Given the description of an element on the screen output the (x, y) to click on. 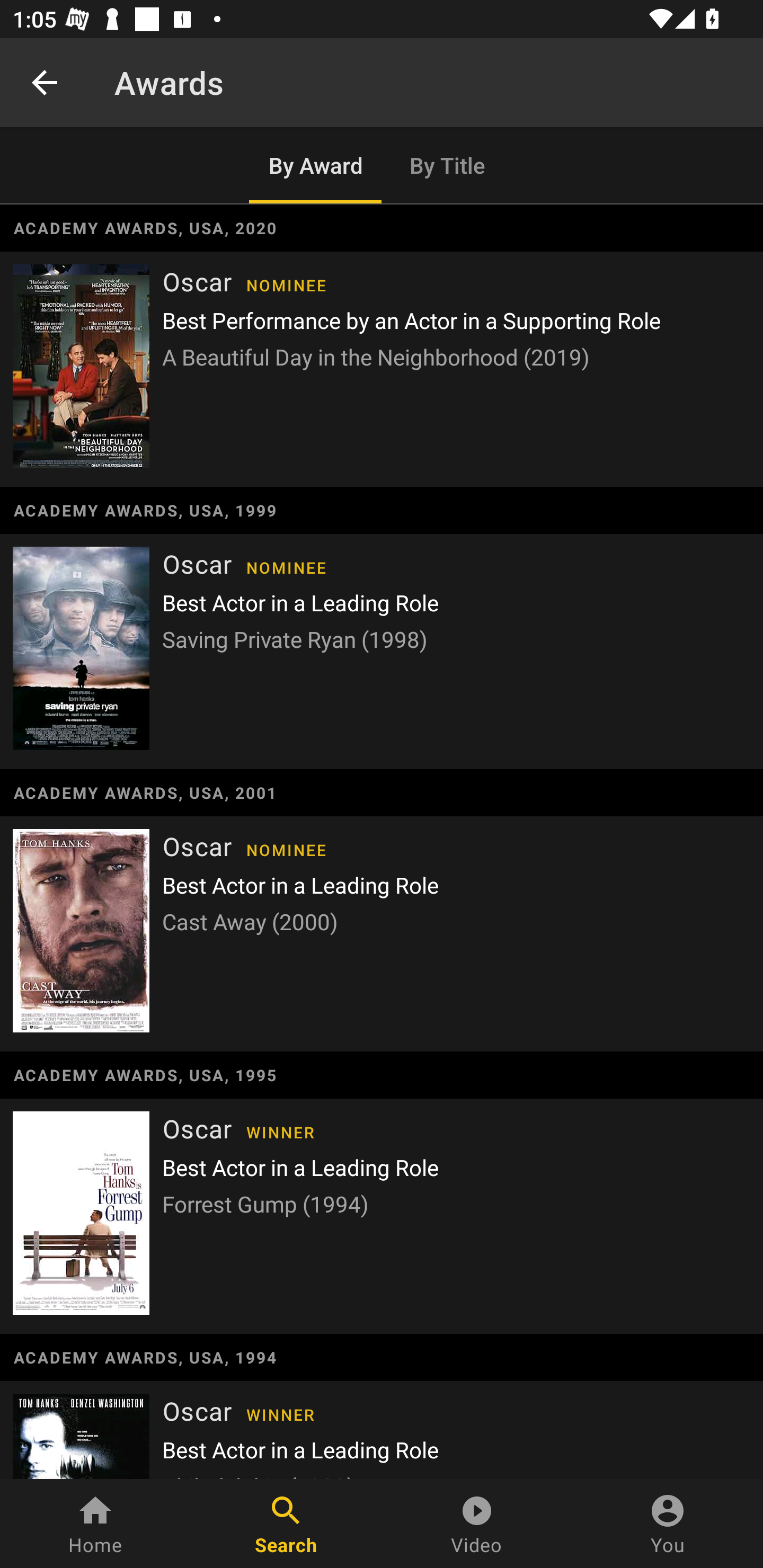
By Title (447, 165)
Home (95, 1523)
Video (476, 1523)
You (667, 1523)
